Given the description of an element on the screen output the (x, y) to click on. 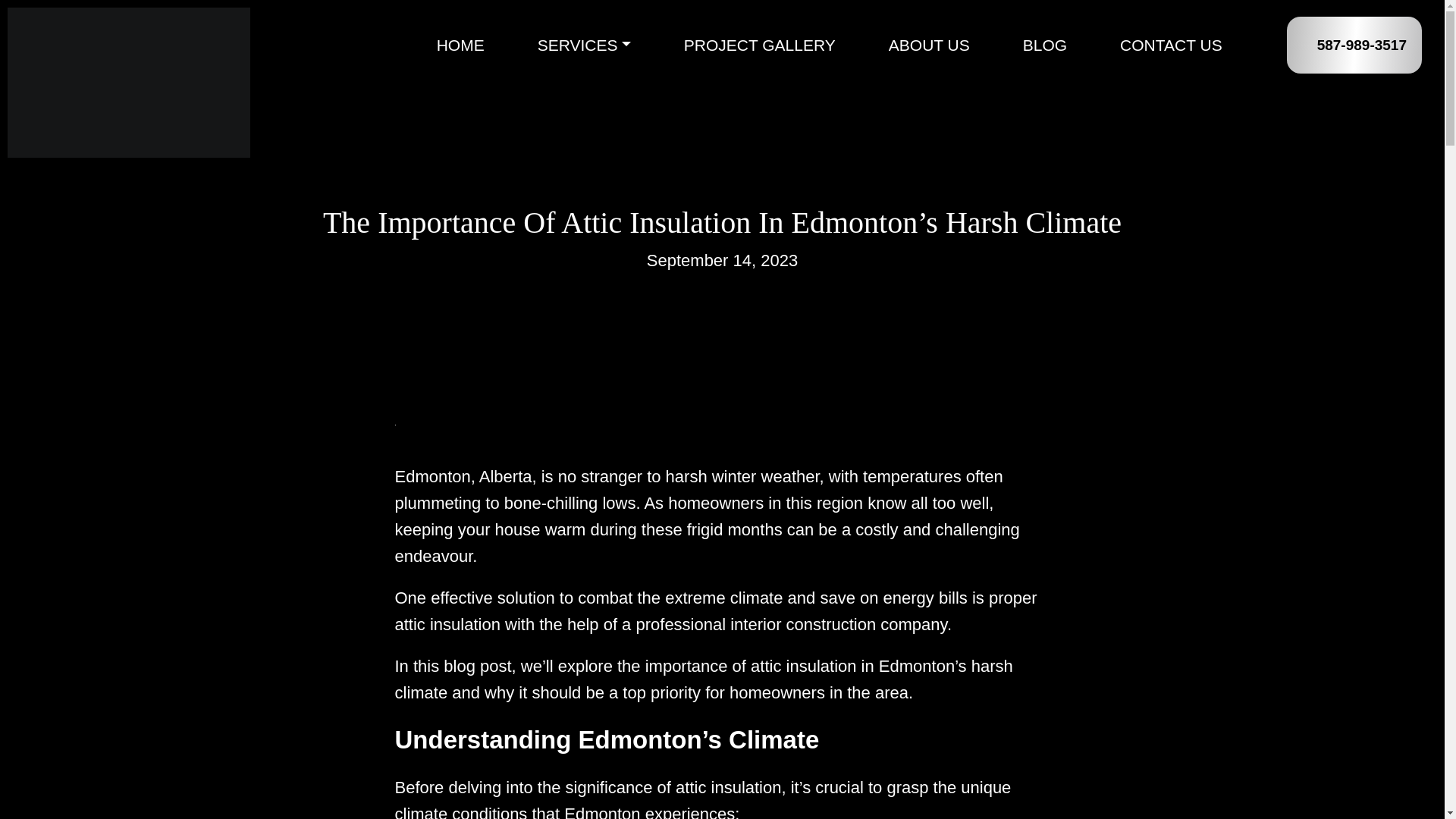
PROJECT GALLERY (759, 45)
SERVICES (583, 45)
587-989-3517 (1361, 43)
professional interior construction company. (793, 624)
ABOUT US (928, 45)
CONTACT US (1171, 45)
HOME (460, 45)
BLOG (1045, 45)
